Given the description of an element on the screen output the (x, y) to click on. 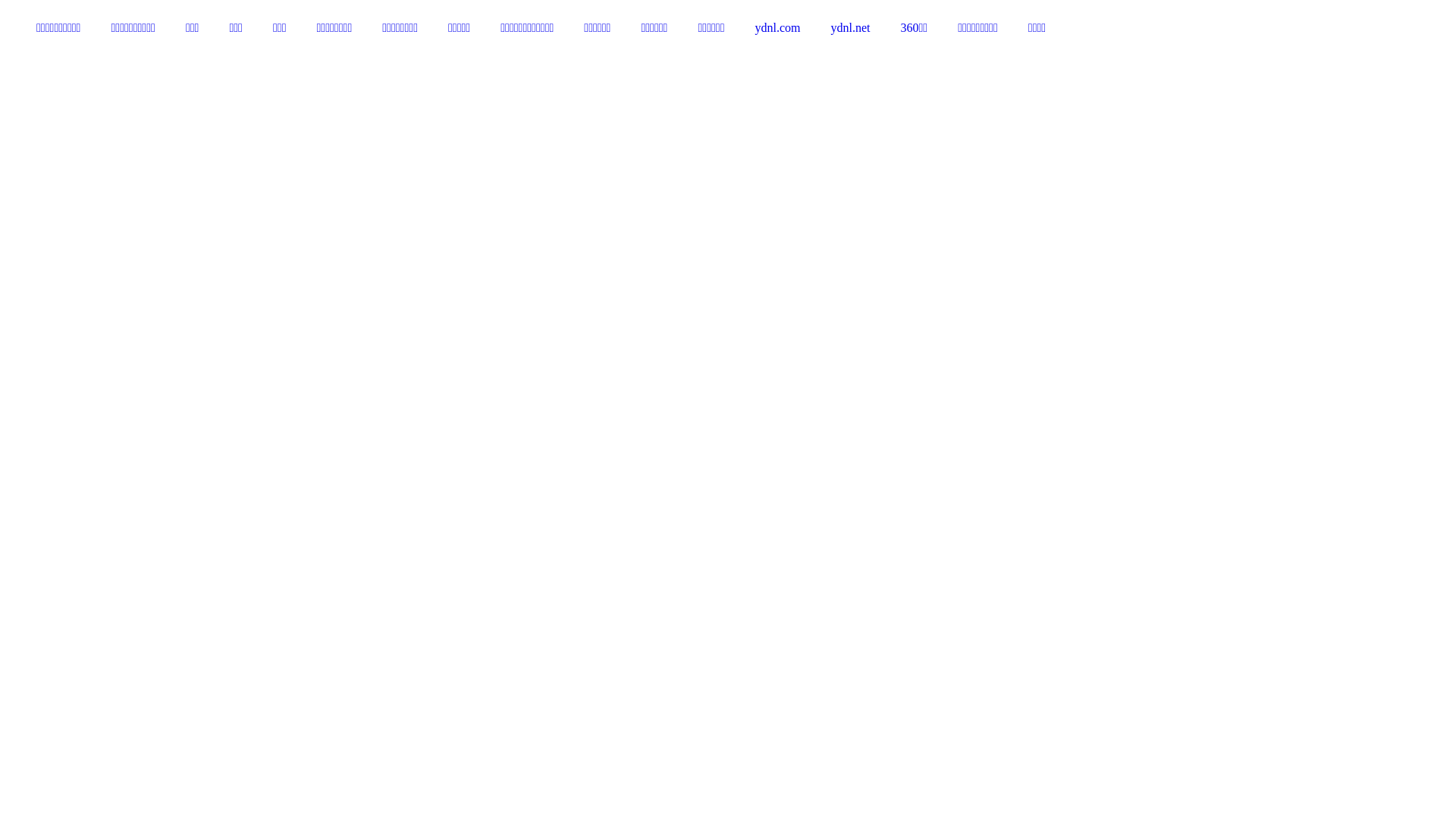
ydnl.com Element type: text (777, 28)
ydnl.net Element type: text (850, 28)
